Given the description of an element on the screen output the (x, y) to click on. 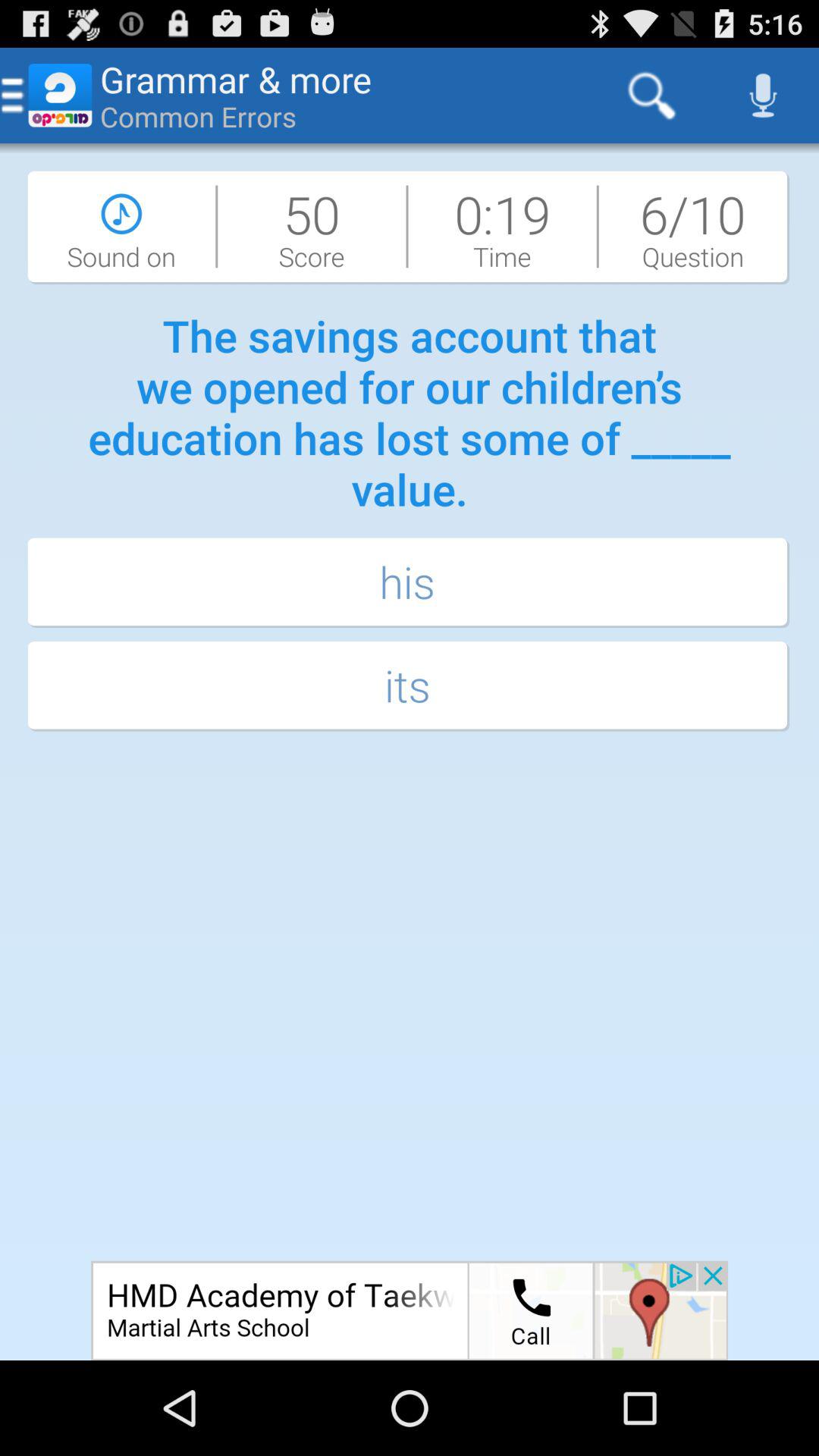
launch its button (409, 687)
